Given the description of an element on the screen output the (x, y) to click on. 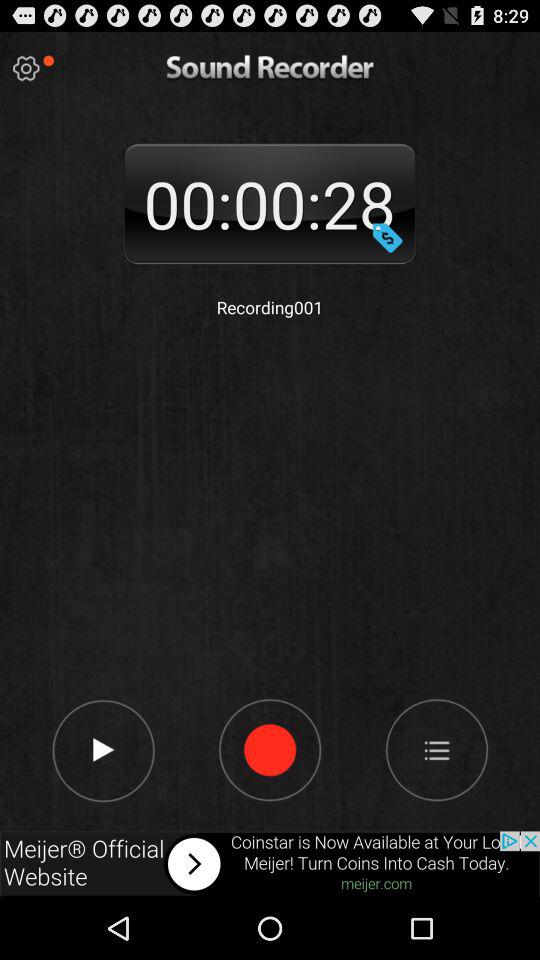
show menu item (436, 749)
